Given the description of an element on the screen output the (x, y) to click on. 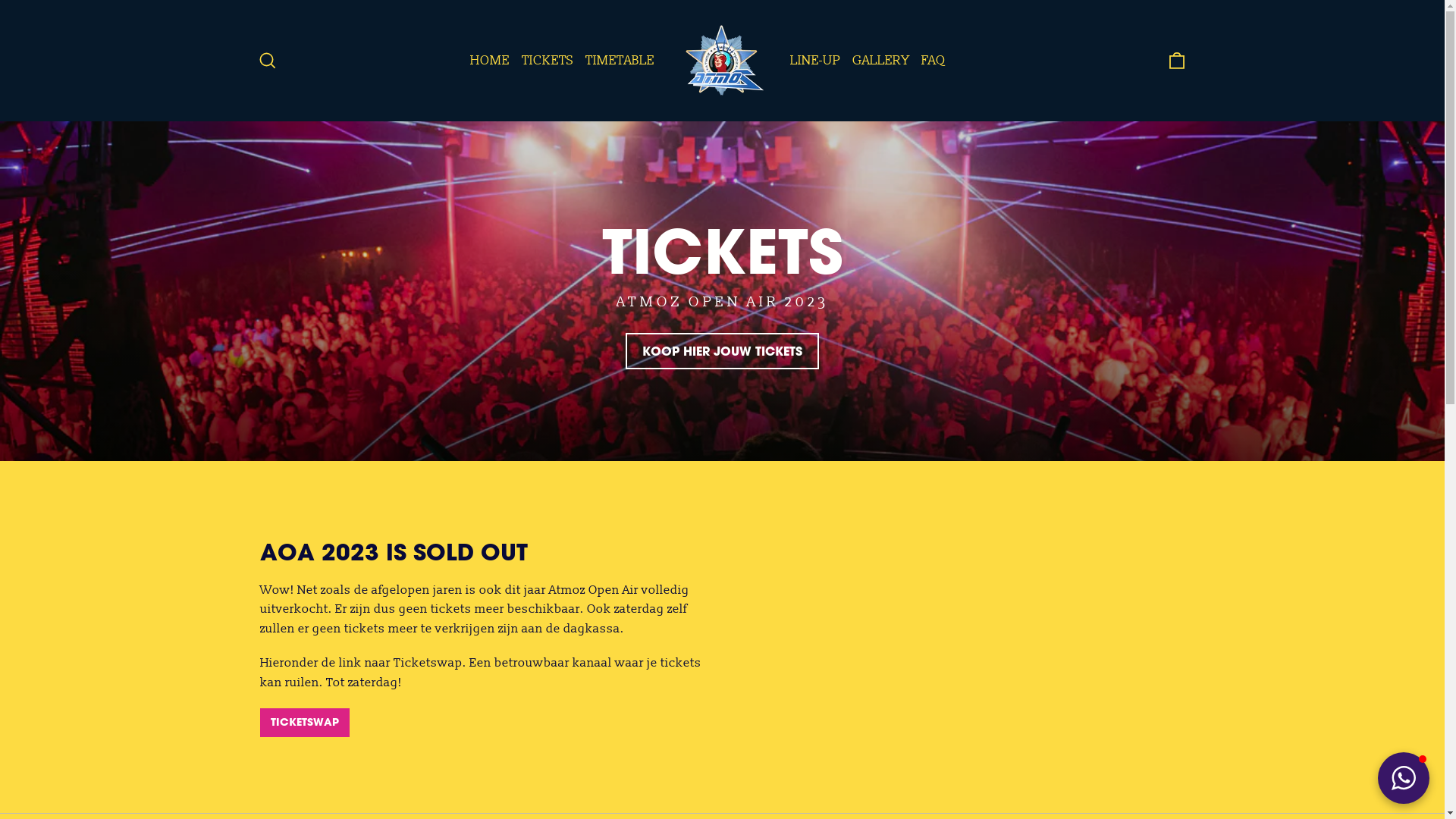
GALLERY Element type: text (880, 60)
TICKETSWAP Element type: text (303, 722)
Skip to content Element type: text (0, 0)
Cart Element type: text (1176, 60)
TIMETABLE Element type: text (619, 60)
Search Element type: text (266, 60)
TICKETS Element type: text (547, 60)
HOME Element type: text (489, 60)
KOOP HIER JOUW TICKETS Element type: text (722, 351)
LINE-UP Element type: text (815, 60)
FAQ Element type: text (933, 60)
